Given the description of an element on the screen output the (x, y) to click on. 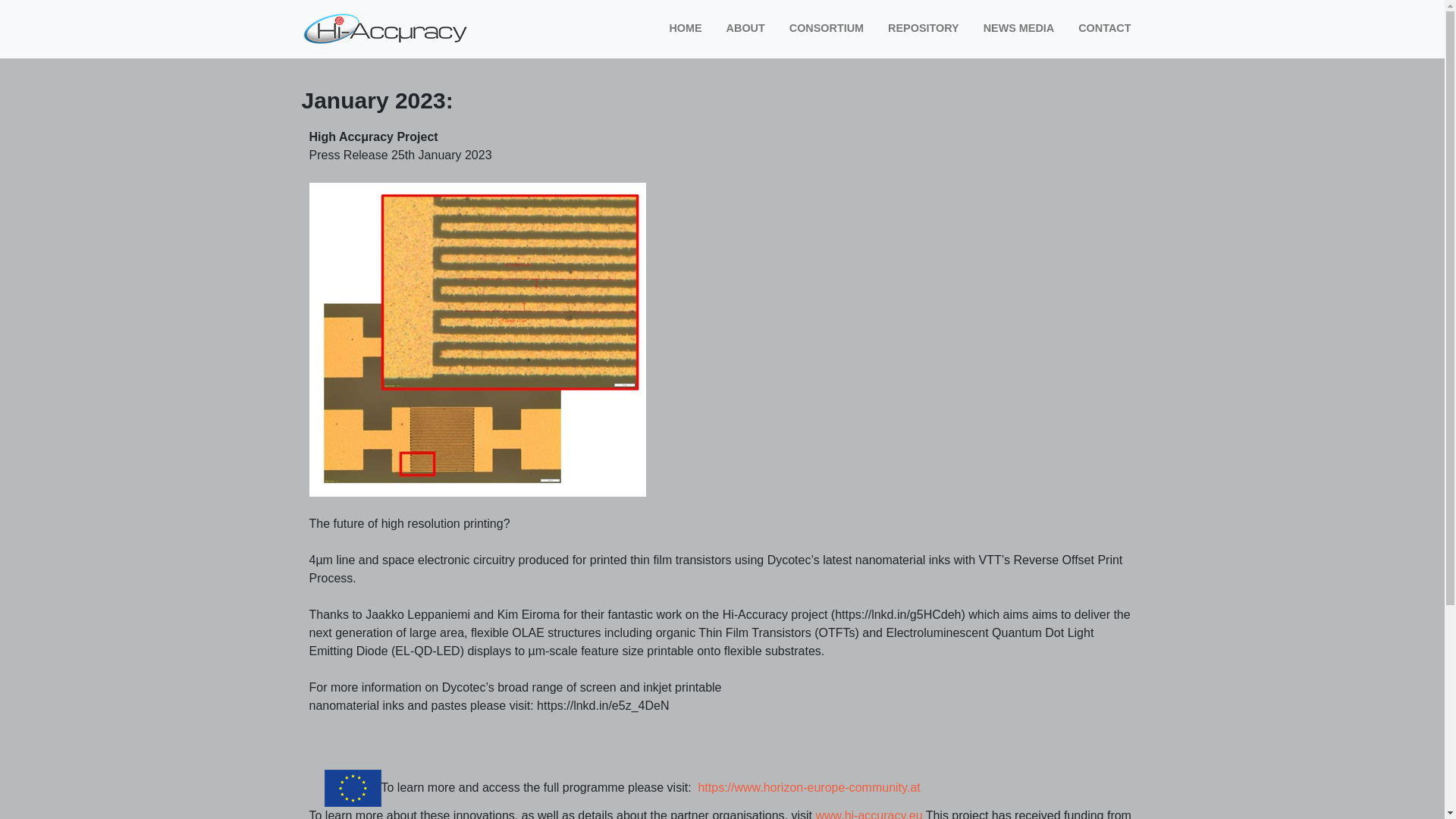
CONTACT (1103, 28)
REPOSITORY (923, 28)
NEWS MEDIA (1019, 28)
www.hi-accuracy.eu (868, 814)
HOME (684, 28)
CONSORTIUM (826, 28)
CONTACT (1103, 28)
HOME (684, 28)
ABOUT (745, 28)
NEWS MEDIA (1019, 28)
CONSORTIUM (826, 28)
ABOUT (745, 28)
REPOSITORY (923, 28)
